Given the description of an element on the screen output the (x, y) to click on. 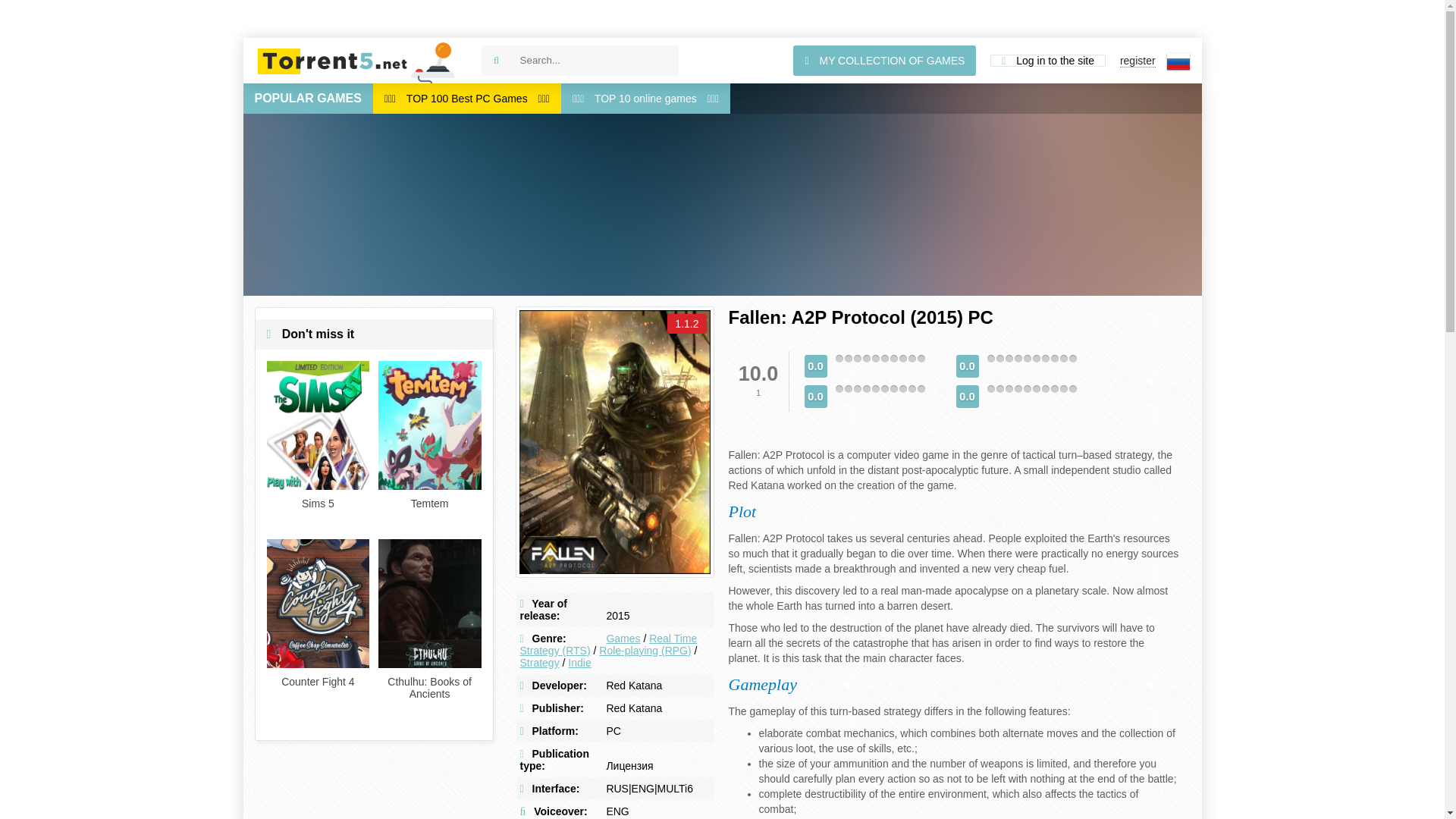
Games (622, 638)
Indie (579, 662)
1 (838, 388)
9 (911, 358)
1 (838, 358)
2 (847, 358)
Strategy (539, 662)
10 (919, 358)
TOP 100 Best PC Games (466, 98)
TOP 10 online games (645, 98)
